Given the description of an element on the screen output the (x, y) to click on. 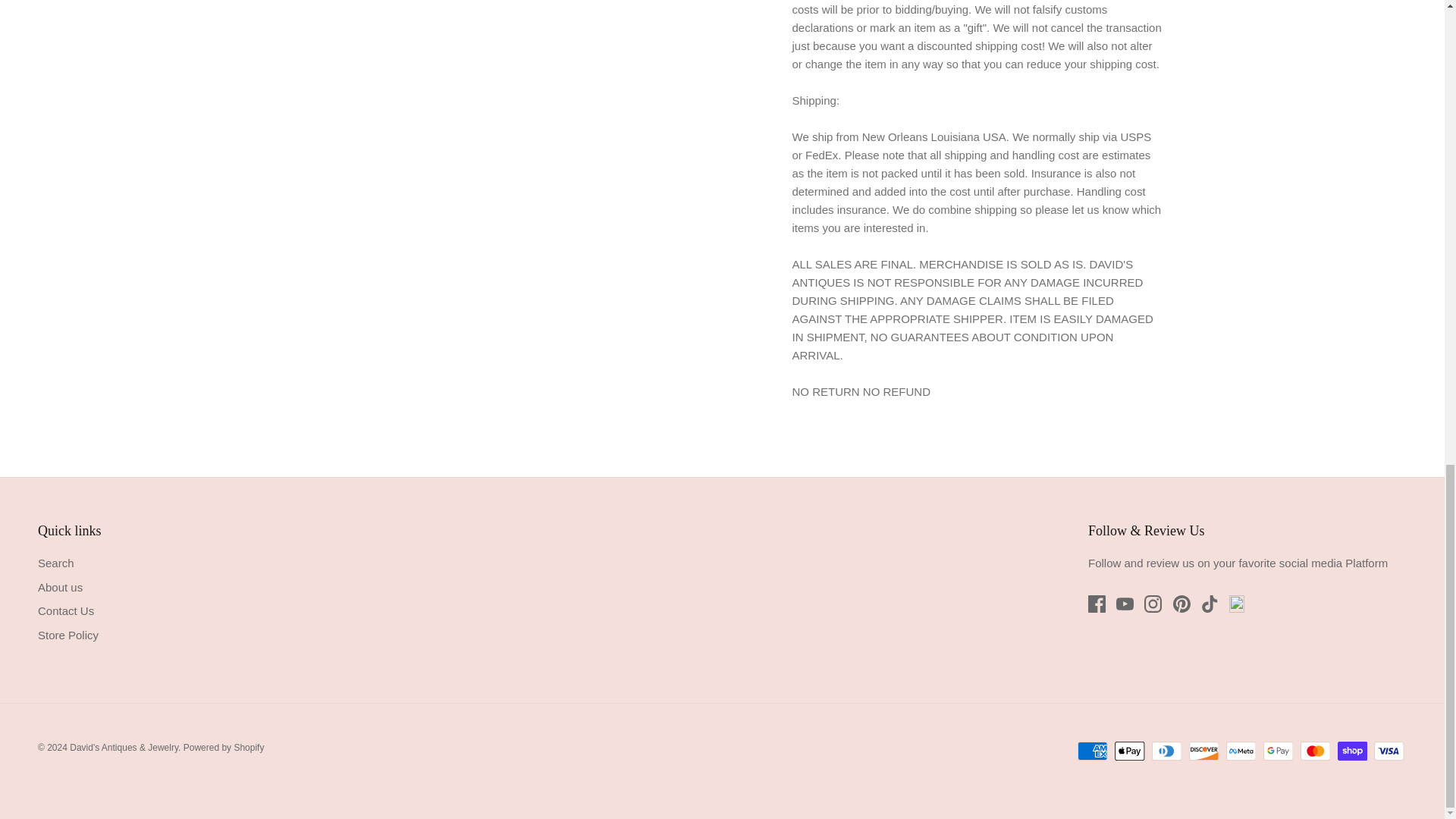
American Express (1092, 751)
Pinterest (1182, 603)
Meta Pay (1240, 751)
Facebook (1096, 603)
Youtube (1125, 603)
Discover (1203, 751)
Diners Club (1166, 751)
Apple Pay (1129, 751)
Instagram (1152, 603)
